Given the description of an element on the screen output the (x, y) to click on. 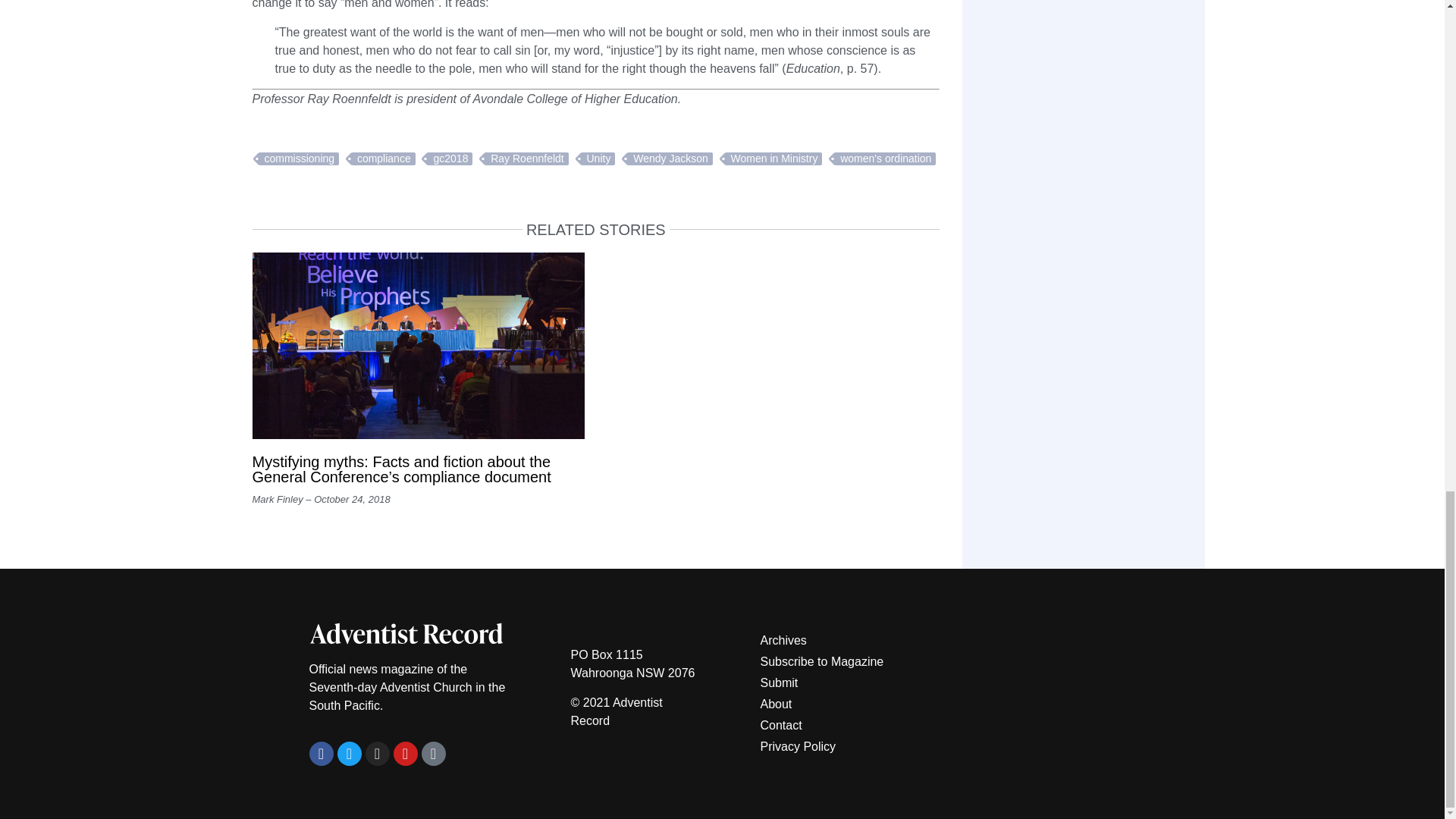
Posts by Mark Finley (276, 499)
